Given the description of an element on the screen output the (x, y) to click on. 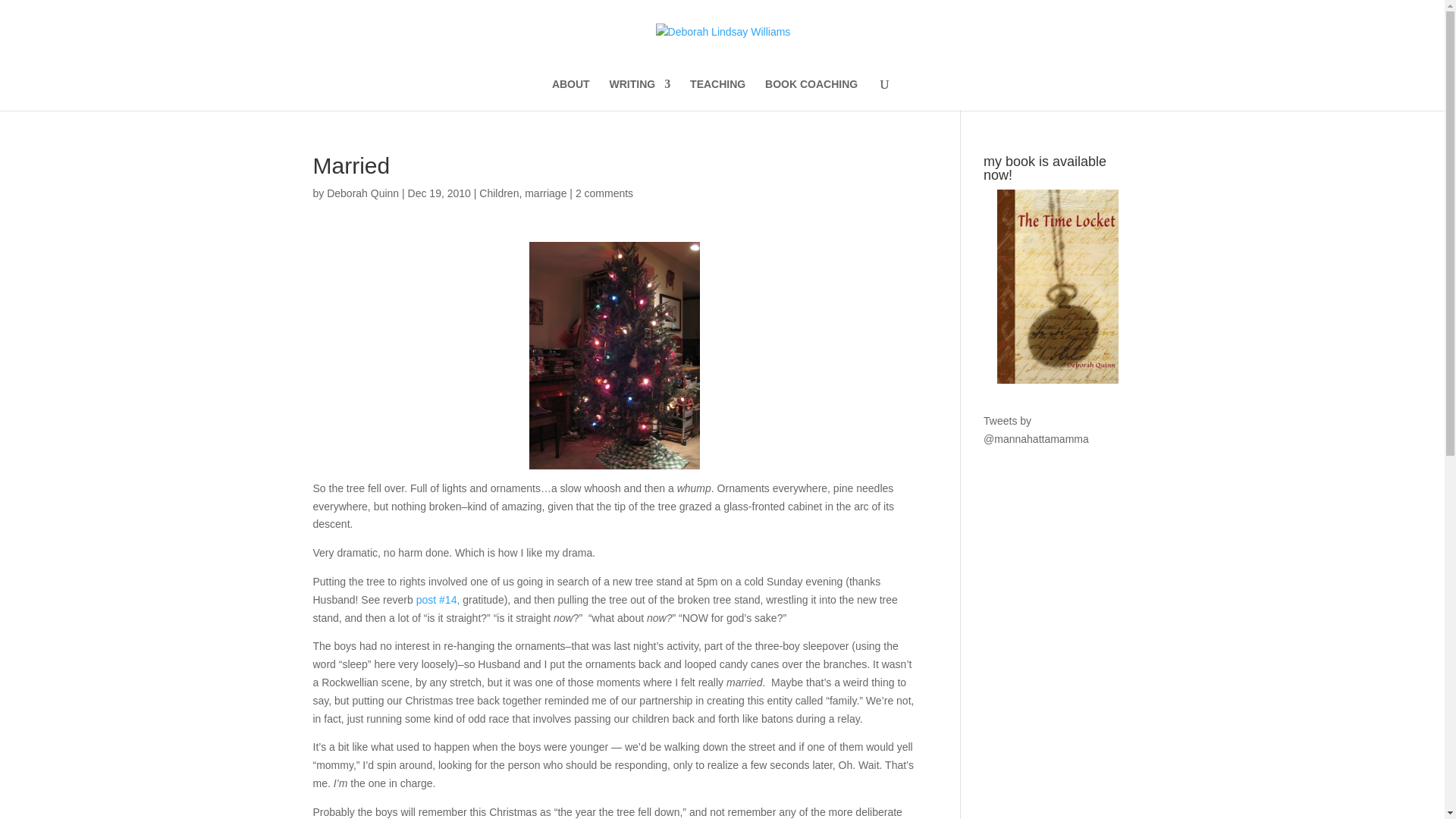
Posts by Deborah Quinn (362, 193)
BOOK COACHING (811, 94)
ABOUT (570, 94)
Children (498, 193)
Deborah Quinn (362, 193)
TEACHING (717, 94)
WRITING (640, 94)
2 comments (604, 193)
marriage (545, 193)
